Given the description of an element on the screen output the (x, y) to click on. 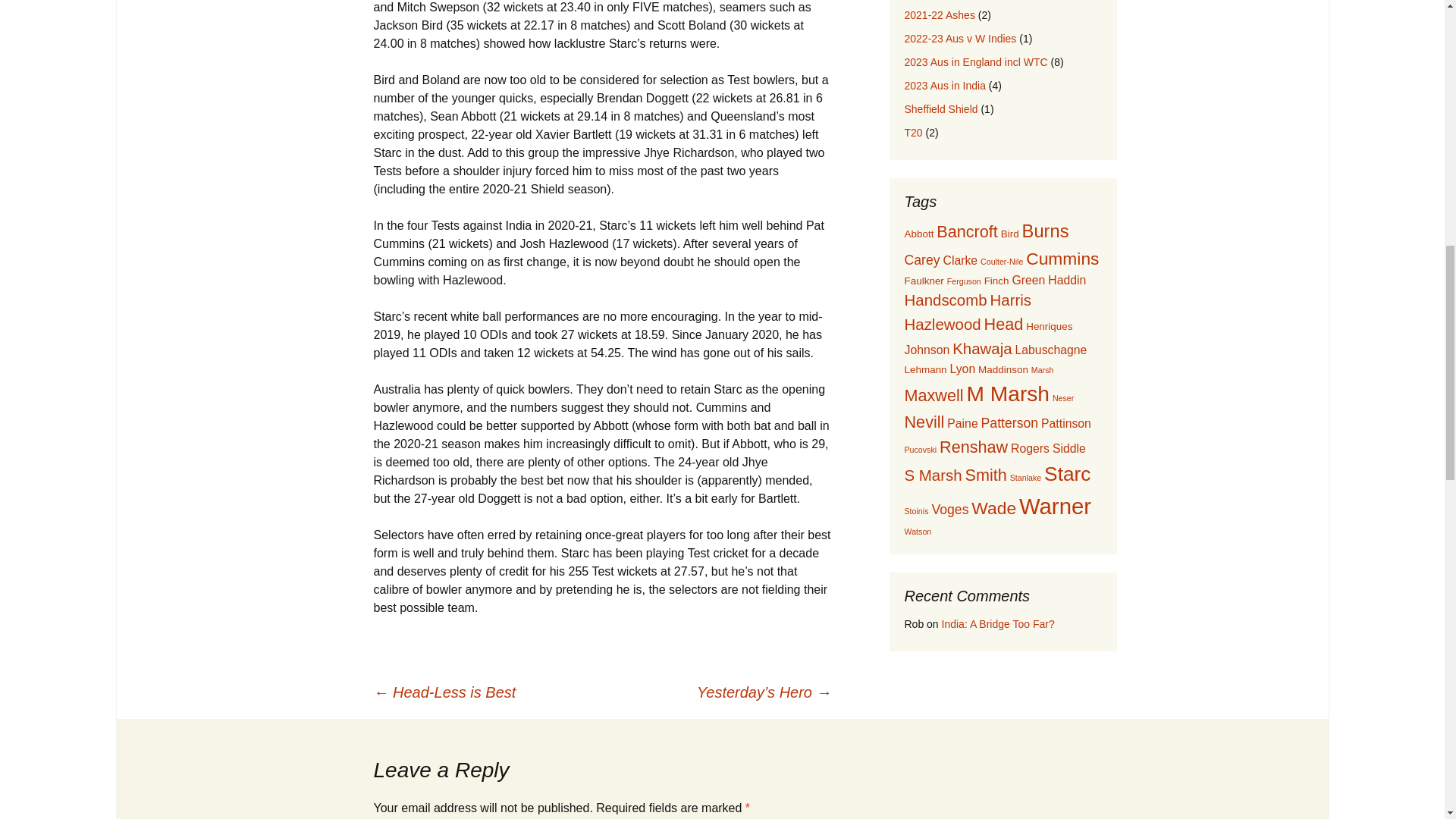
2021-22 Ashes (939, 15)
2022-23 Aus v W Indies (960, 38)
